Given the description of an element on the screen output the (x, y) to click on. 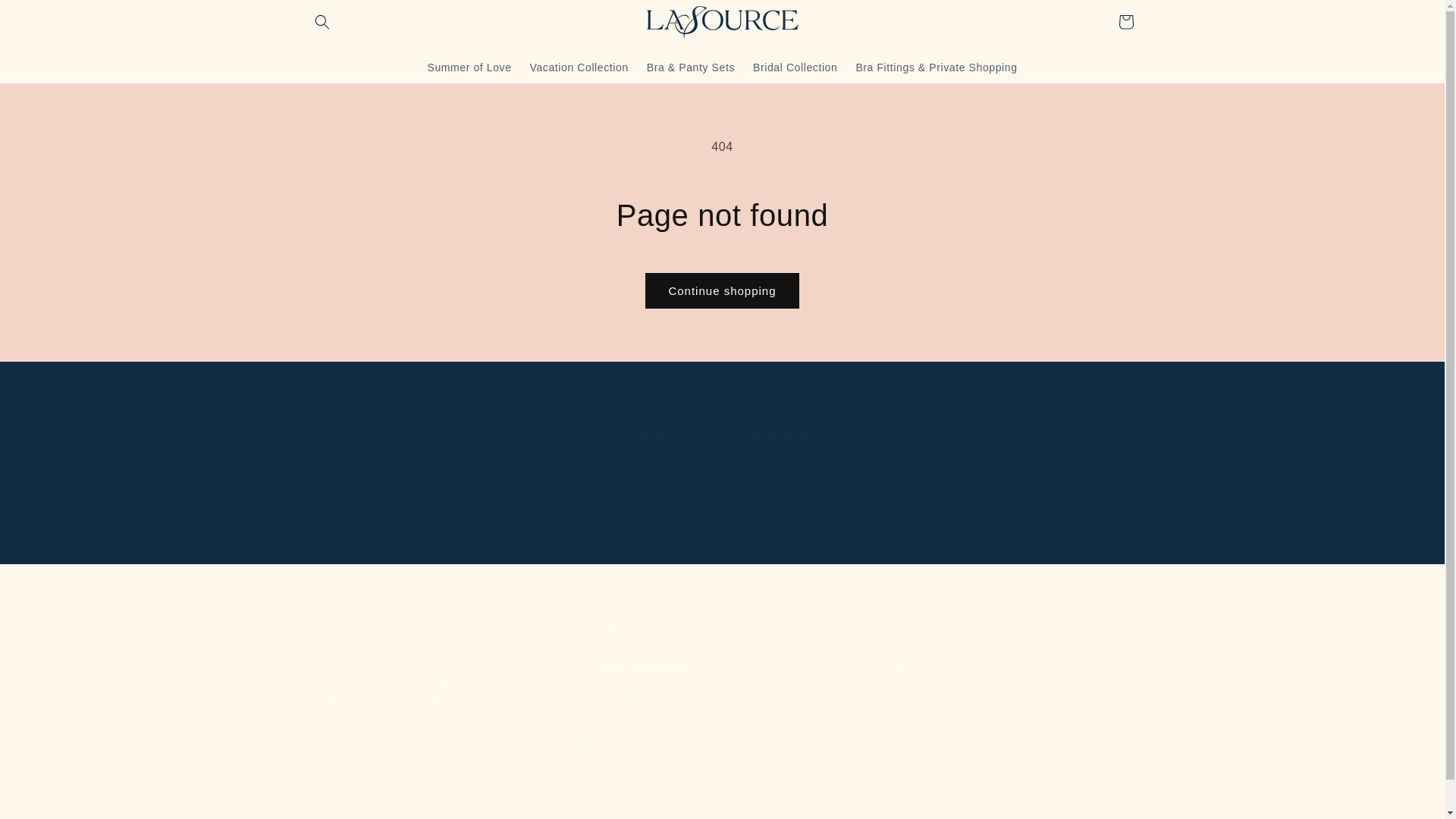
Bridal Collection (794, 67)
Summer of Love (468, 67)
Vacation Collection (579, 67)
Cart (722, 696)
Skip to content (1124, 20)
Email (45, 17)
Subscribe to our emails (722, 515)
Instagram (721, 433)
Continue shopping (591, 745)
Contact Us (721, 290)
